Given the description of an element on the screen output the (x, y) to click on. 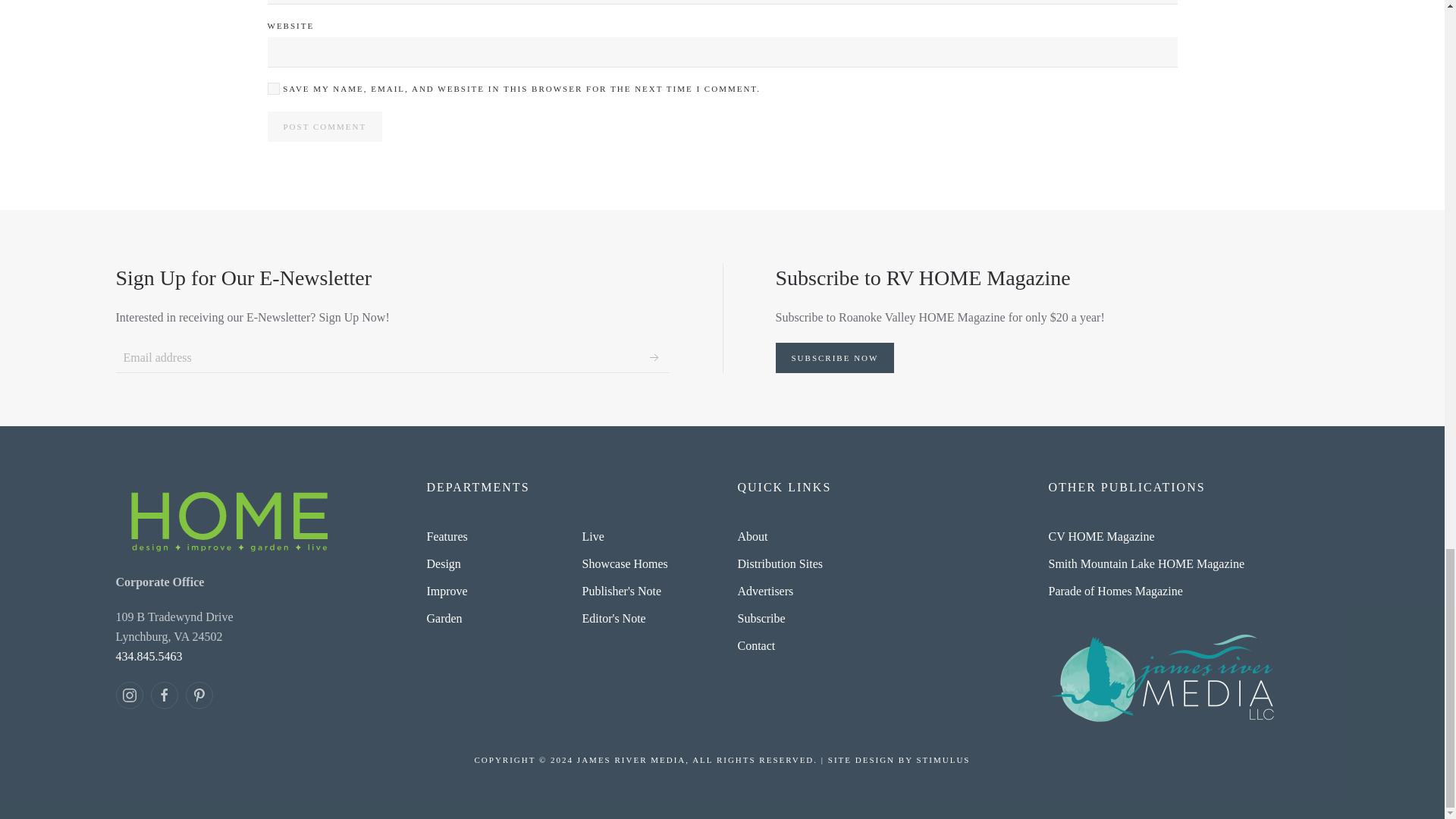
yes (272, 88)
Subscribe (653, 358)
